Given the description of an element on the screen output the (x, y) to click on. 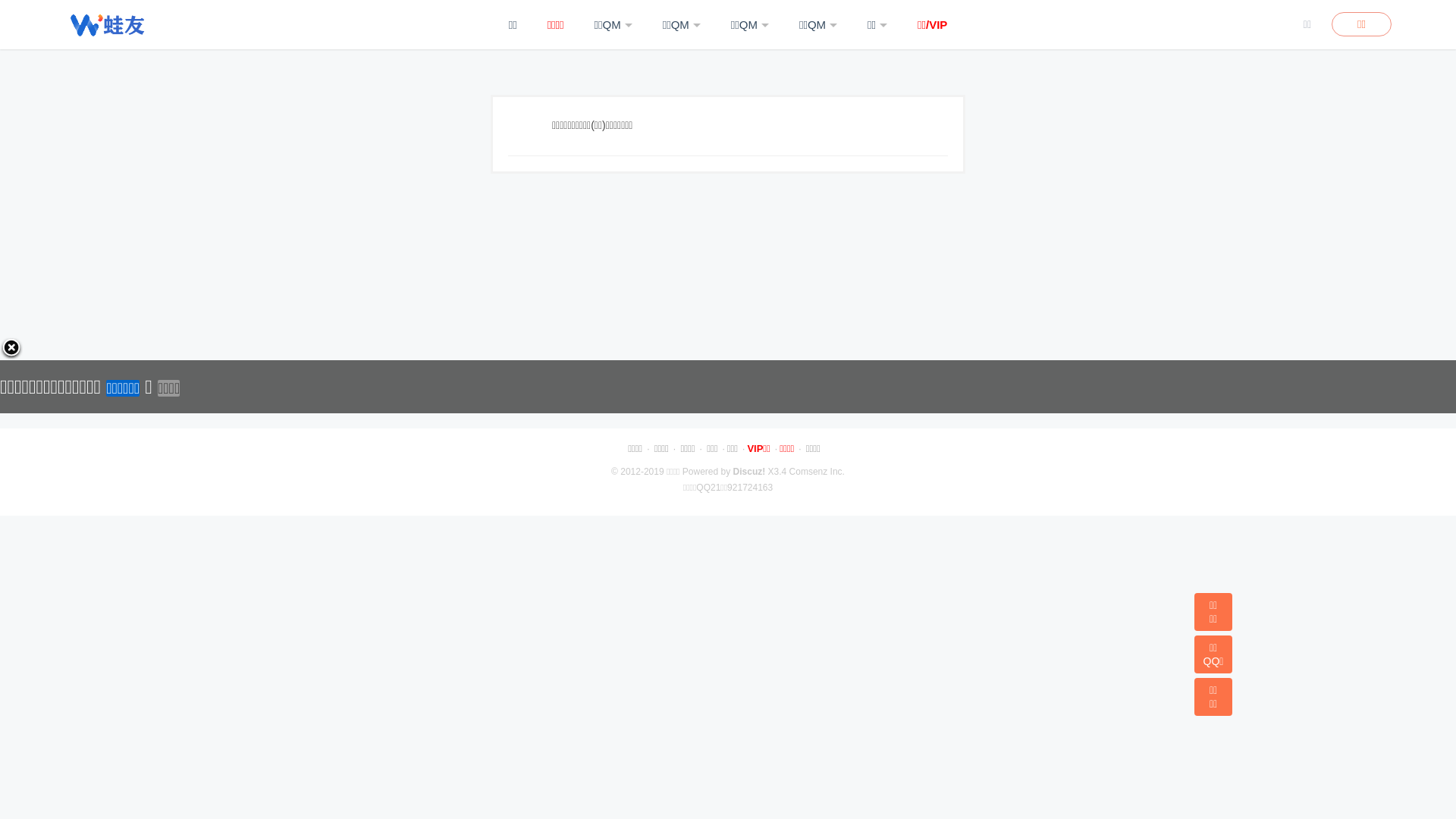
Comsenz Inc. Element type: text (816, 471)
Discuz! Element type: text (749, 471)
